Given the description of an element on the screen output the (x, y) to click on. 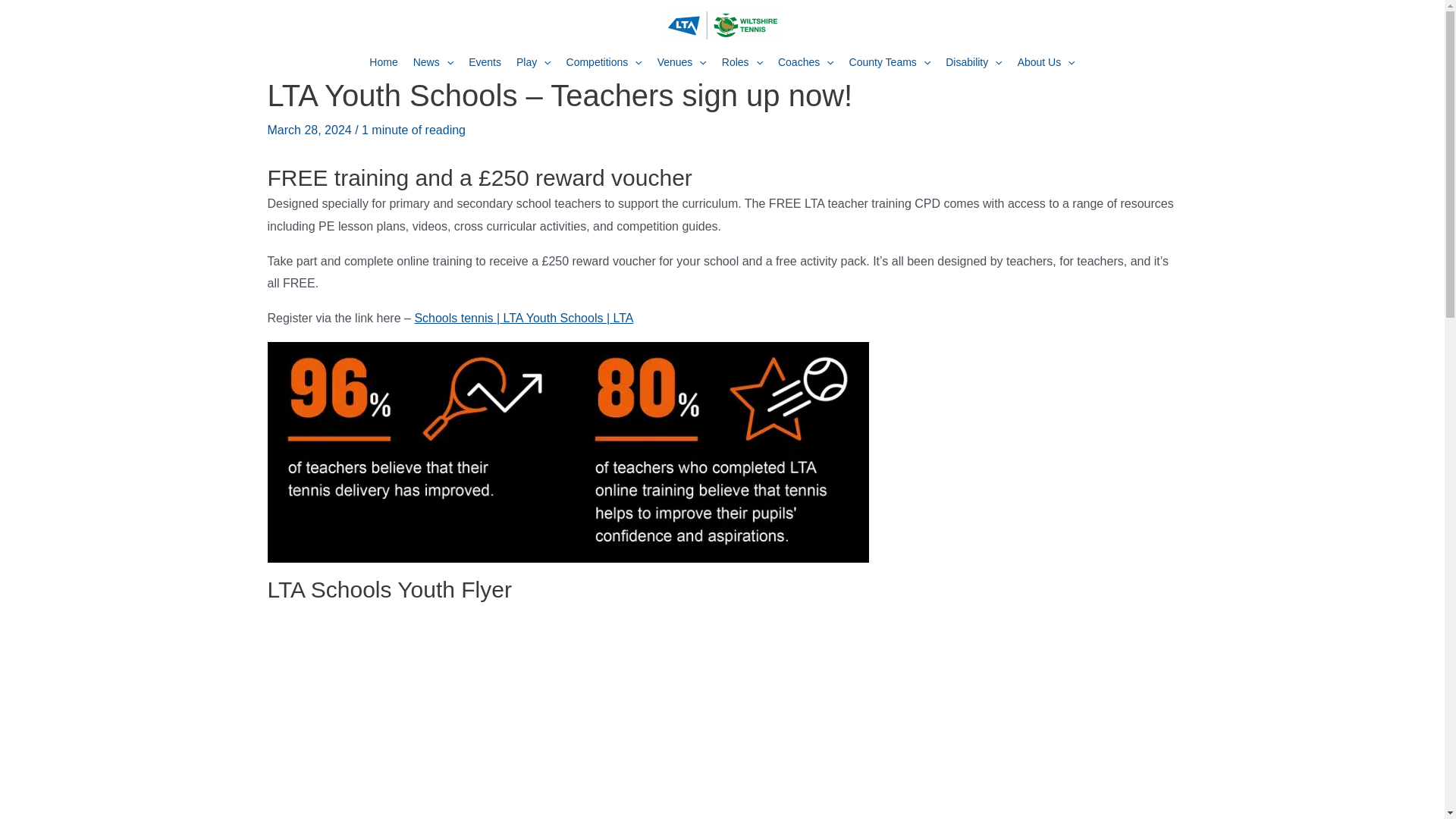
Competitions (604, 63)
Venues (681, 63)
News (433, 63)
Play (533, 63)
Events (484, 63)
Roles (742, 63)
Home (382, 63)
